Given the description of an element on the screen output the (x, y) to click on. 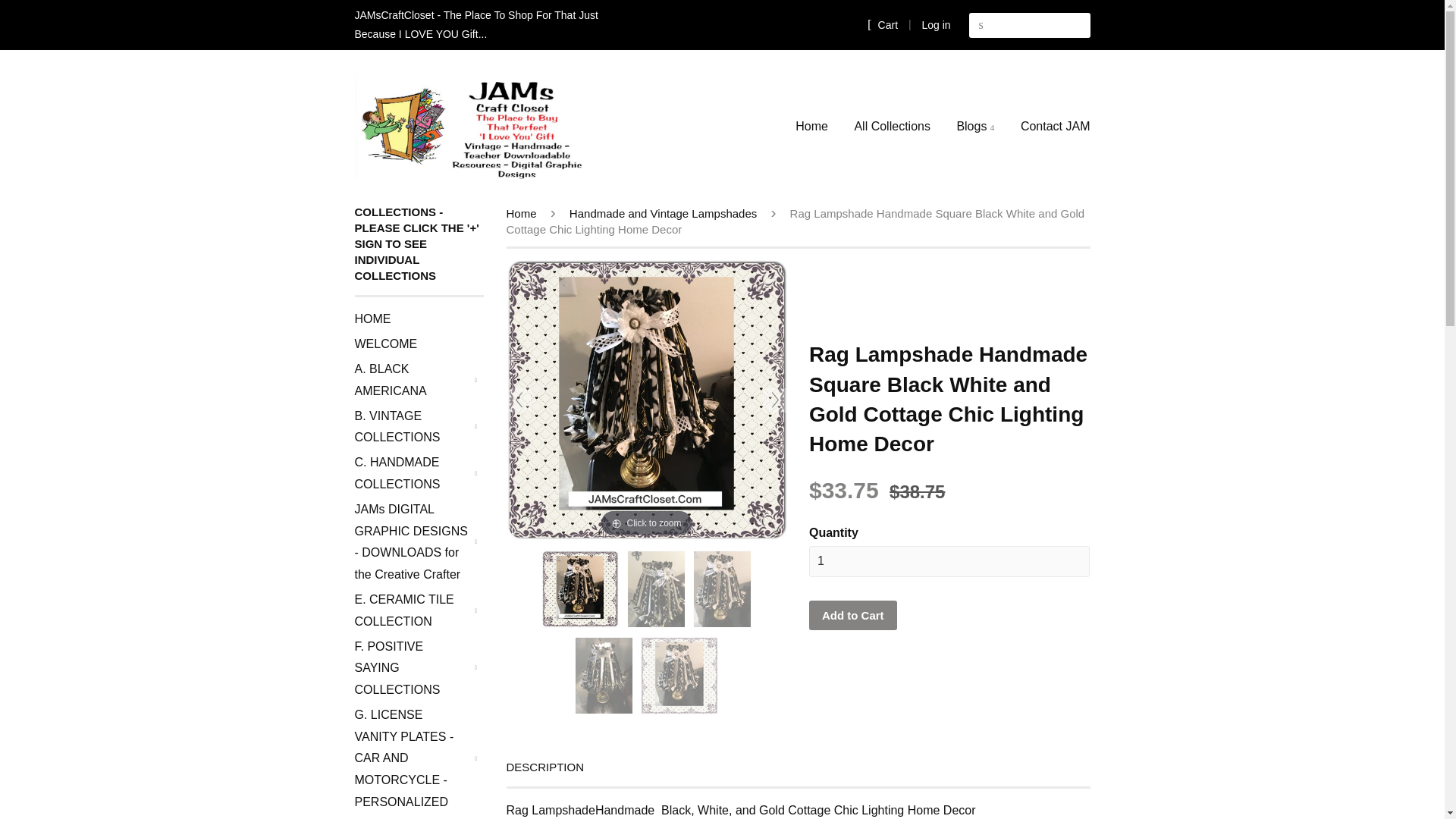
Cart (882, 24)
Back to the frontpage (523, 213)
Log in (935, 24)
Search (980, 25)
1 (949, 561)
